Given the description of an element on the screen output the (x, y) to click on. 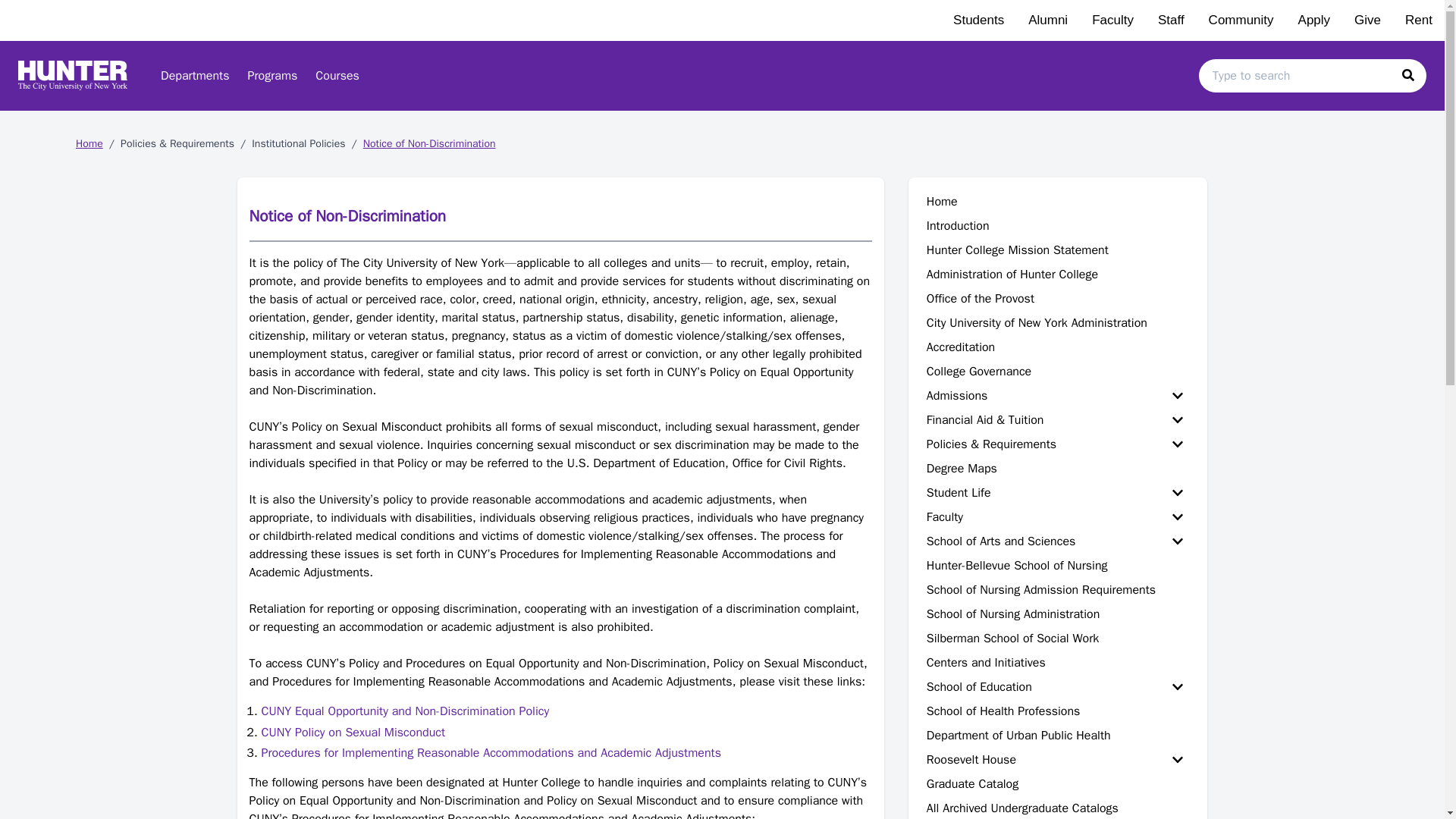
Staff (1170, 20)
Courses (336, 75)
Departments (194, 75)
Alumni (1048, 20)
Give (1367, 20)
Departments (194, 75)
Courses (336, 75)
Apply (1313, 20)
Programs (272, 75)
Students (978, 20)
